Given the description of an element on the screen output the (x, y) to click on. 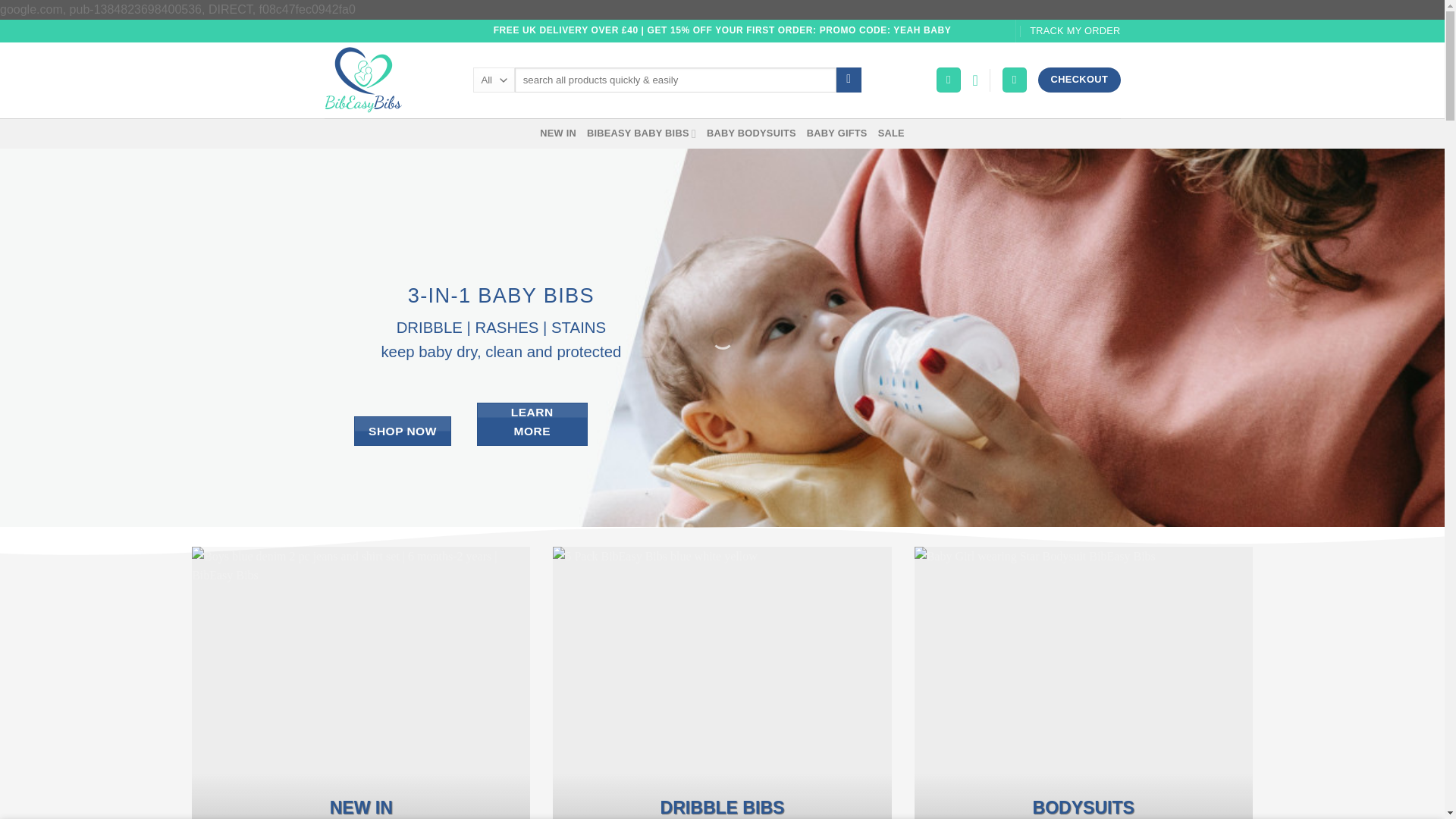
TRACK MY ORDER (1074, 30)
Cart (1014, 79)
NEW IN (558, 133)
BABY GIFTS (836, 133)
BIBEASY BABY BIBS (640, 133)
SHOP NOW (402, 430)
SALE (890, 133)
BABY BODYSUITS (751, 133)
Search (848, 80)
Login (948, 79)
